Given the description of an element on the screen output the (x, y) to click on. 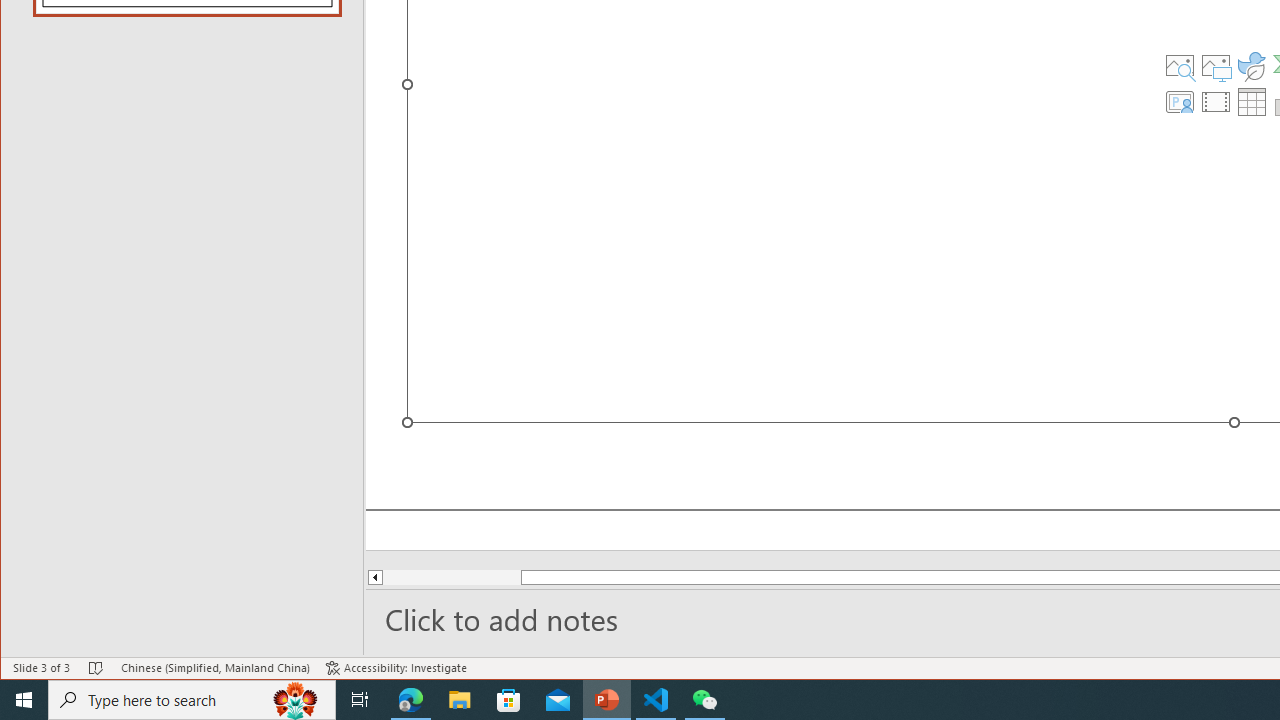
Insert Cameo (1179, 101)
Insert an Icon (1252, 65)
Stock Images (1179, 65)
Insert Video (1215, 101)
